Given the description of an element on the screen output the (x, y) to click on. 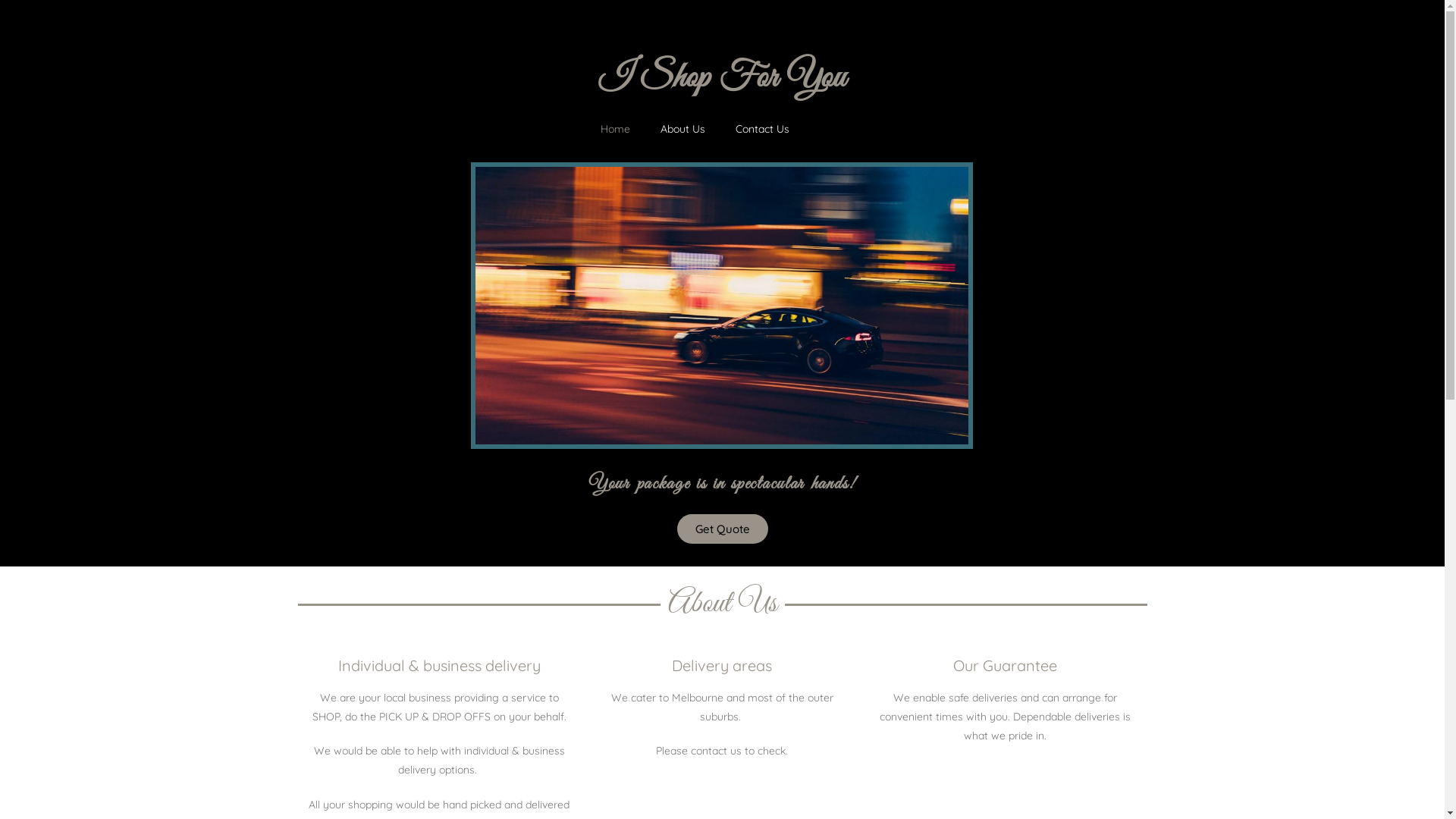
Contact Us Element type: text (762, 128)
About Us Element type: text (682, 128)
Get Quote Element type: text (721, 528)
I Shop For You Element type: text (722, 78)
Home Element type: text (615, 128)
